Given the description of an element on the screen output the (x, y) to click on. 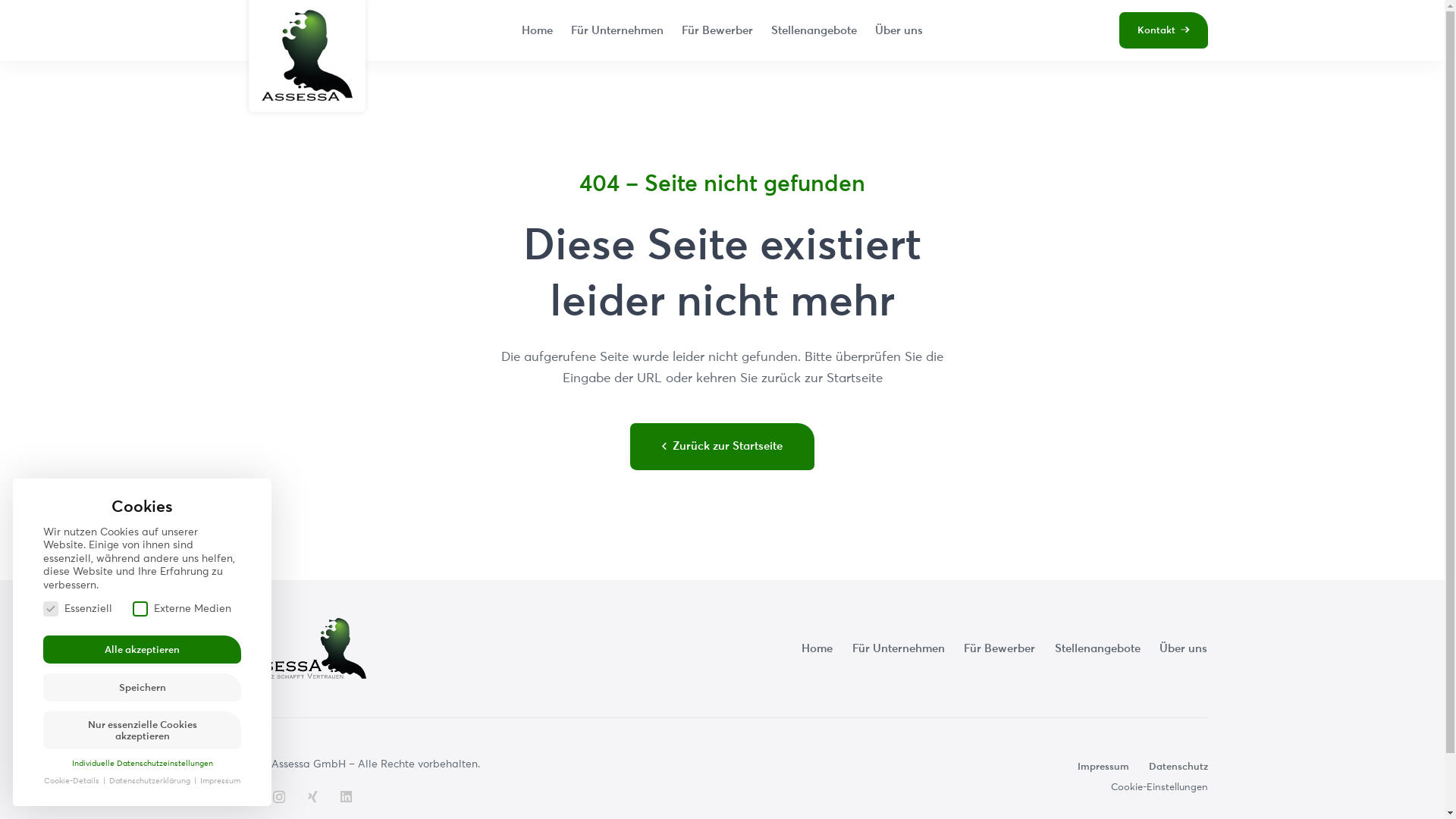
LinkedIn Element type: hover (345, 796)
Speichern Element type: text (142, 687)
Nur essenzielle Cookies akzeptieren Element type: text (142, 730)
Home Element type: text (816, 647)
Kontakt Element type: text (1163, 30)
Impressum Element type: text (1103, 765)
Datenschutz Element type: text (1177, 765)
Home Element type: text (536, 30)
Cookie-Details Element type: text (72, 780)
Xing Element type: hover (312, 796)
Facebook Element type: hover (242, 796)
Alle akzeptieren Element type: text (142, 649)
Individuelle Datenschutzeinstellungen Element type: text (141, 762)
Instagram Element type: hover (279, 797)
Cookie-Einstellungen Element type: text (1158, 786)
Impressum Element type: text (220, 780)
Stellenangebote Element type: text (814, 30)
Stellenangebote Element type: text (1097, 647)
